Given the description of an element on the screen output the (x, y) to click on. 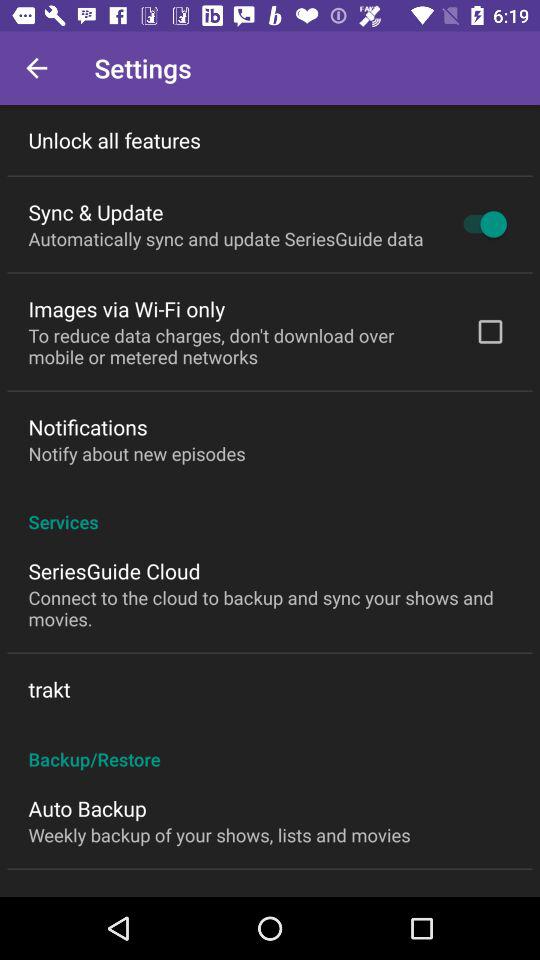
swipe to notifications icon (87, 426)
